Given the description of an element on the screen output the (x, y) to click on. 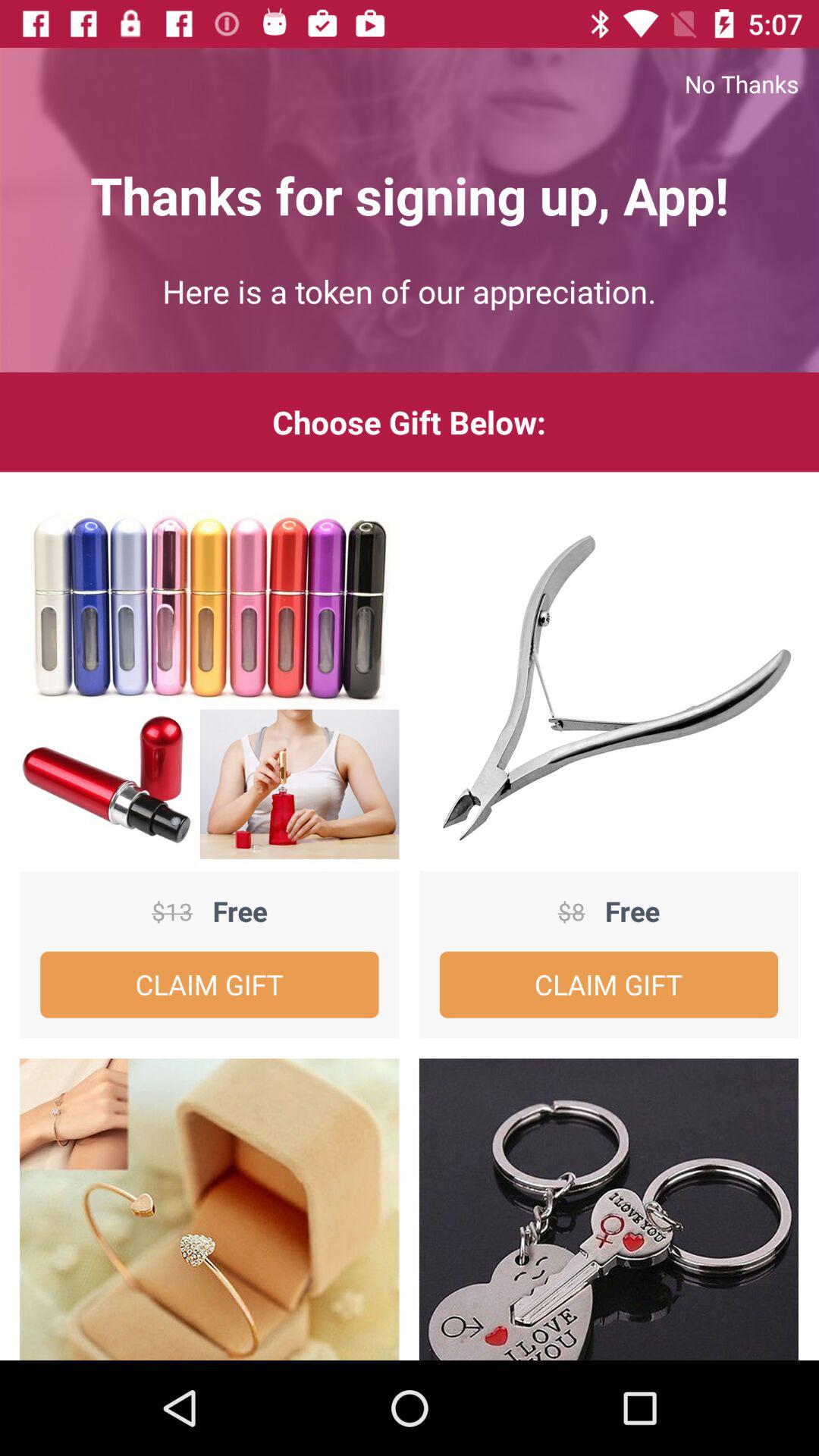
scroll to no thanks item (409, 83)
